Given the description of an element on the screen output the (x, y) to click on. 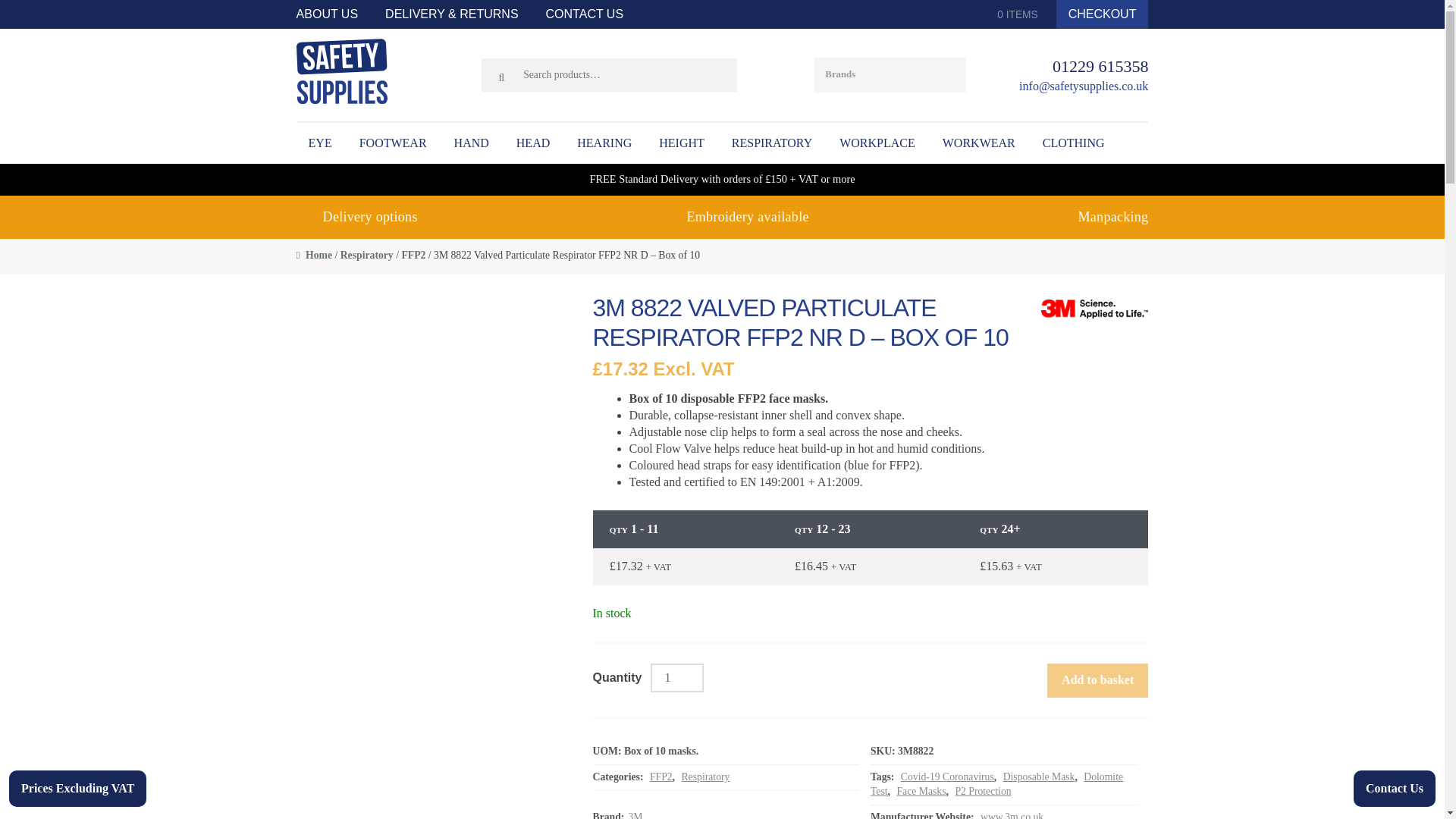
CONTACT US (585, 14)
HAND (471, 142)
CHECKOUT (1102, 14)
ABOUT US (334, 14)
1 (676, 677)
Qty (676, 677)
0 ITEMS (1010, 14)
Search (27, 15)
FOOTWEAR (393, 142)
EYE (320, 142)
HEAD (532, 142)
View your shopping cart (1010, 14)
